Given the description of an element on the screen output the (x, y) to click on. 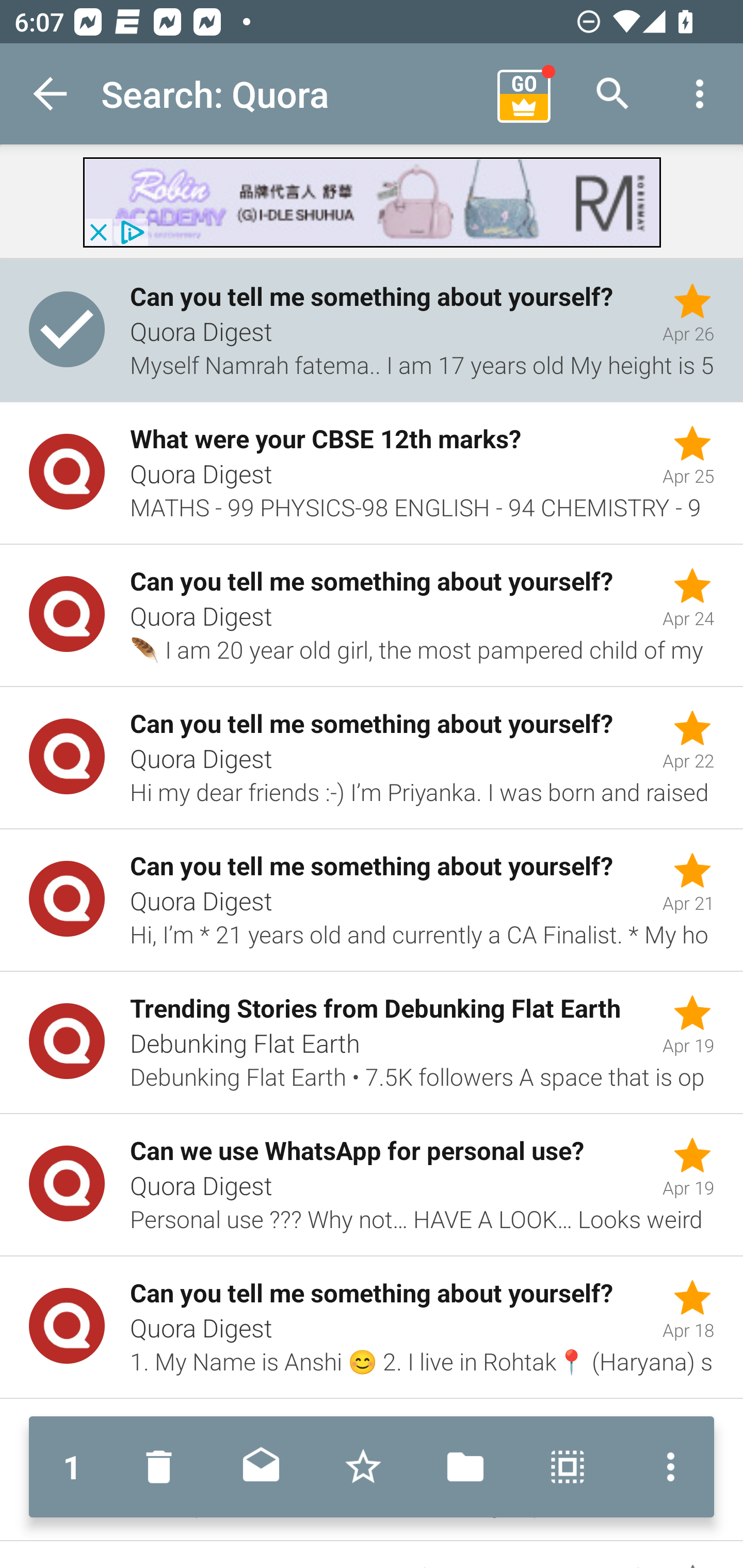
Navigate up (50, 93)
Search (612, 93)
More options (699, 93)
1 1 message (71, 1466)
Move to Deleted (162, 1466)
Mark read (261, 1466)
Remove stars (363, 1466)
Move to folder… (465, 1466)
Select all (567, 1466)
More options (666, 1466)
